Given the description of an element on the screen output the (x, y) to click on. 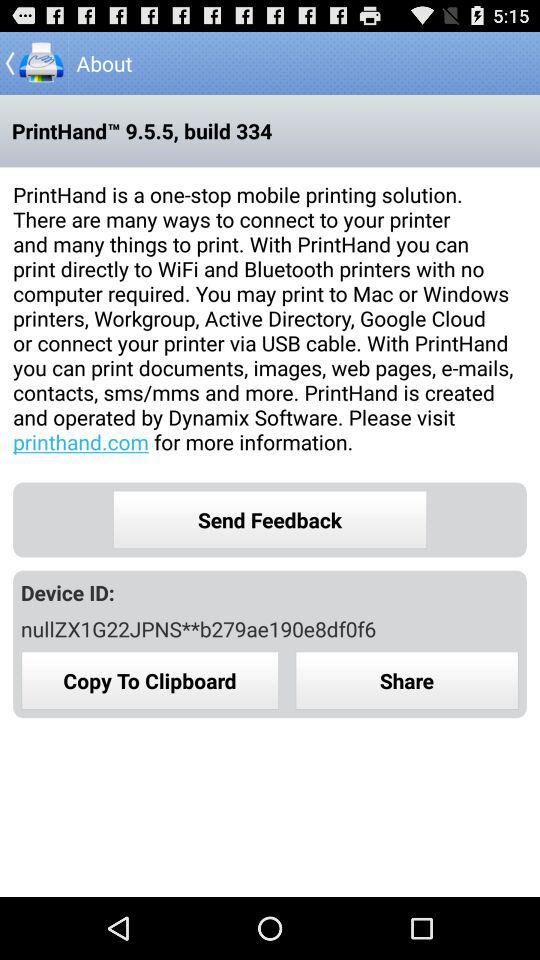
click item below printhand 9 5 app (270, 317)
